Given the description of an element on the screen output the (x, y) to click on. 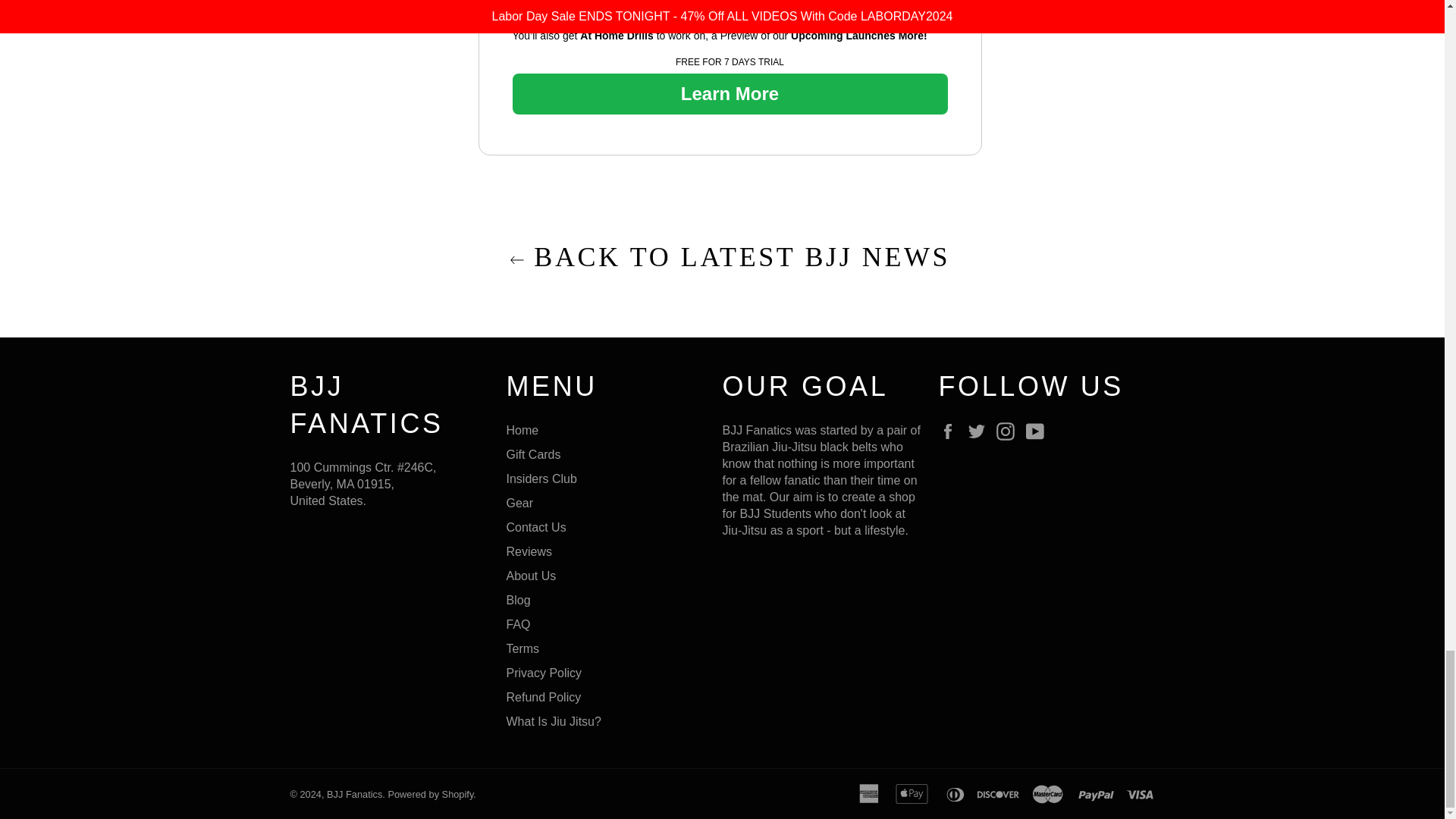
BJJ Fanatics on Instagram (1008, 431)
BJJ Fanatics on YouTube (1038, 431)
BJJ Fanatics on Twitter (980, 431)
BJJ Fanatics on Facebook (951, 431)
